Given the description of an element on the screen output the (x, y) to click on. 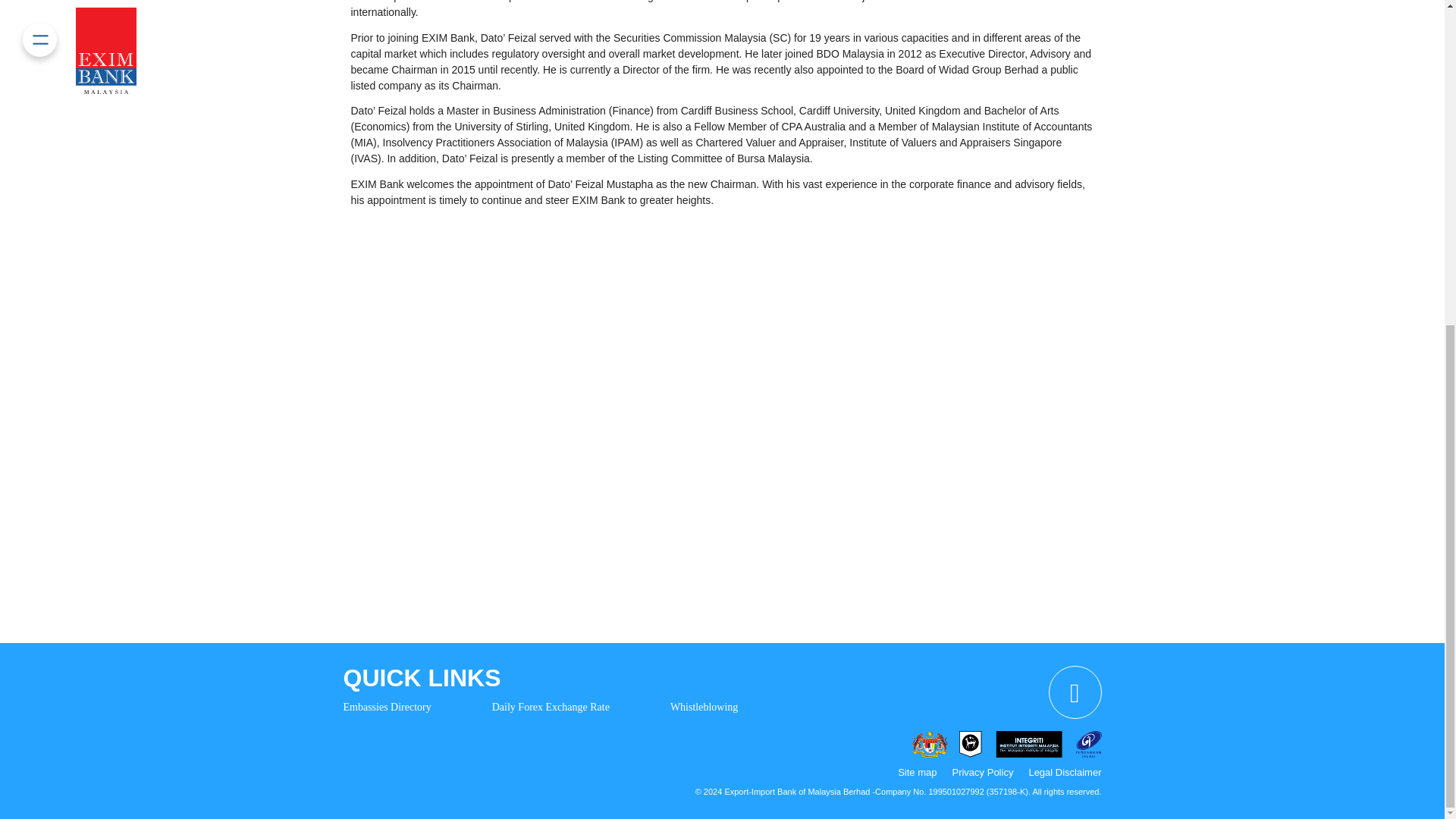
Privacy Policy (981, 772)
Whistleblowing (703, 706)
Legal Disclaimer (1060, 772)
Site map (920, 772)
Embassies Directory (386, 706)
Daily Forex Exchange Rate (551, 706)
